Given the description of an element on the screen output the (x, y) to click on. 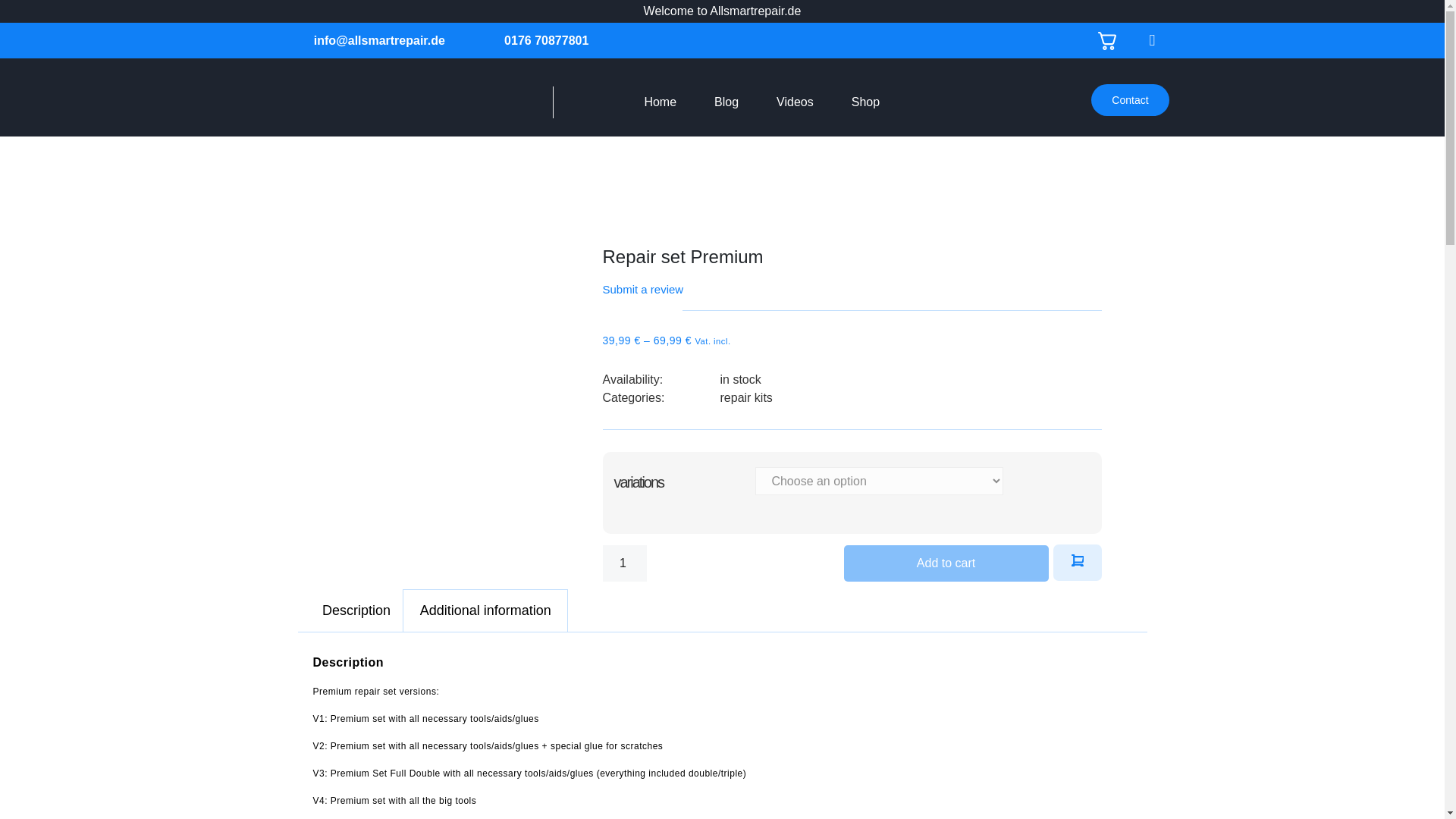
Shop (865, 101)
Submit a review (642, 288)
English (1114, 40)
Contact (1129, 100)
Additional information (485, 610)
Videos (794, 101)
Qty (624, 563)
Home (659, 101)
1 (624, 563)
Blog (726, 101)
English (1069, 40)
Description (356, 610)
Add to cart (945, 563)
